Given the description of an element on the screen output the (x, y) to click on. 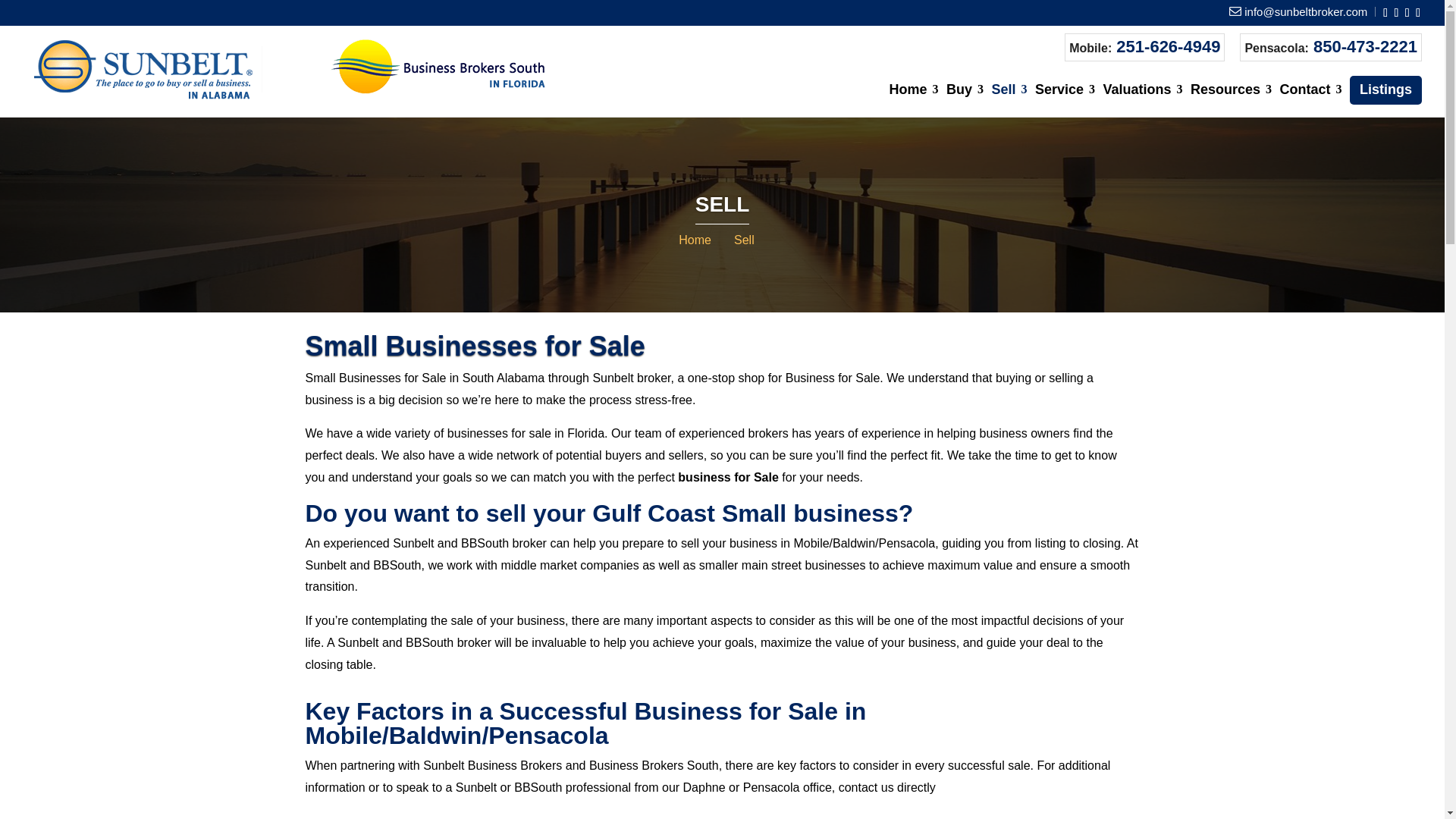
Resources (1231, 100)
Go to Business Brokers South. (694, 239)
251-626-4949 (1168, 46)
Buy (965, 100)
Service (1064, 100)
Valuations (1142, 100)
850-473-2221 (1364, 46)
Listings (1385, 90)
Sell (1009, 100)
Contact (1310, 100)
Home (914, 100)
